Given the description of an element on the screen output the (x, y) to click on. 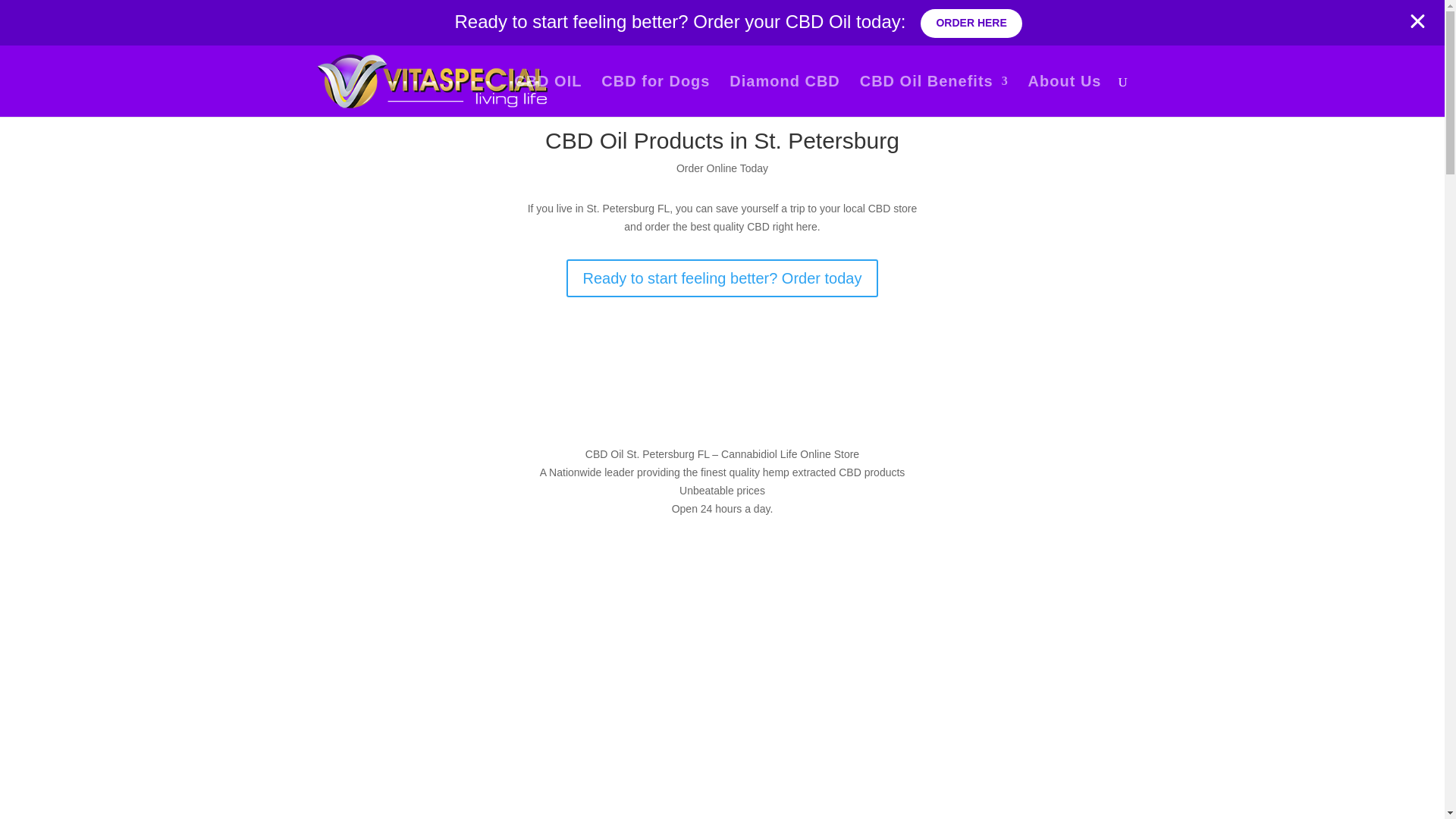
CBD Oil Benefits (934, 96)
Diamond CBD (784, 96)
CBD OIL (546, 96)
ORDER HERE (890, 19)
Ready to start feeling better? Order today (721, 278)
CBD for Dogs (655, 96)
About Us (1064, 96)
